Given the description of an element on the screen output the (x, y) to click on. 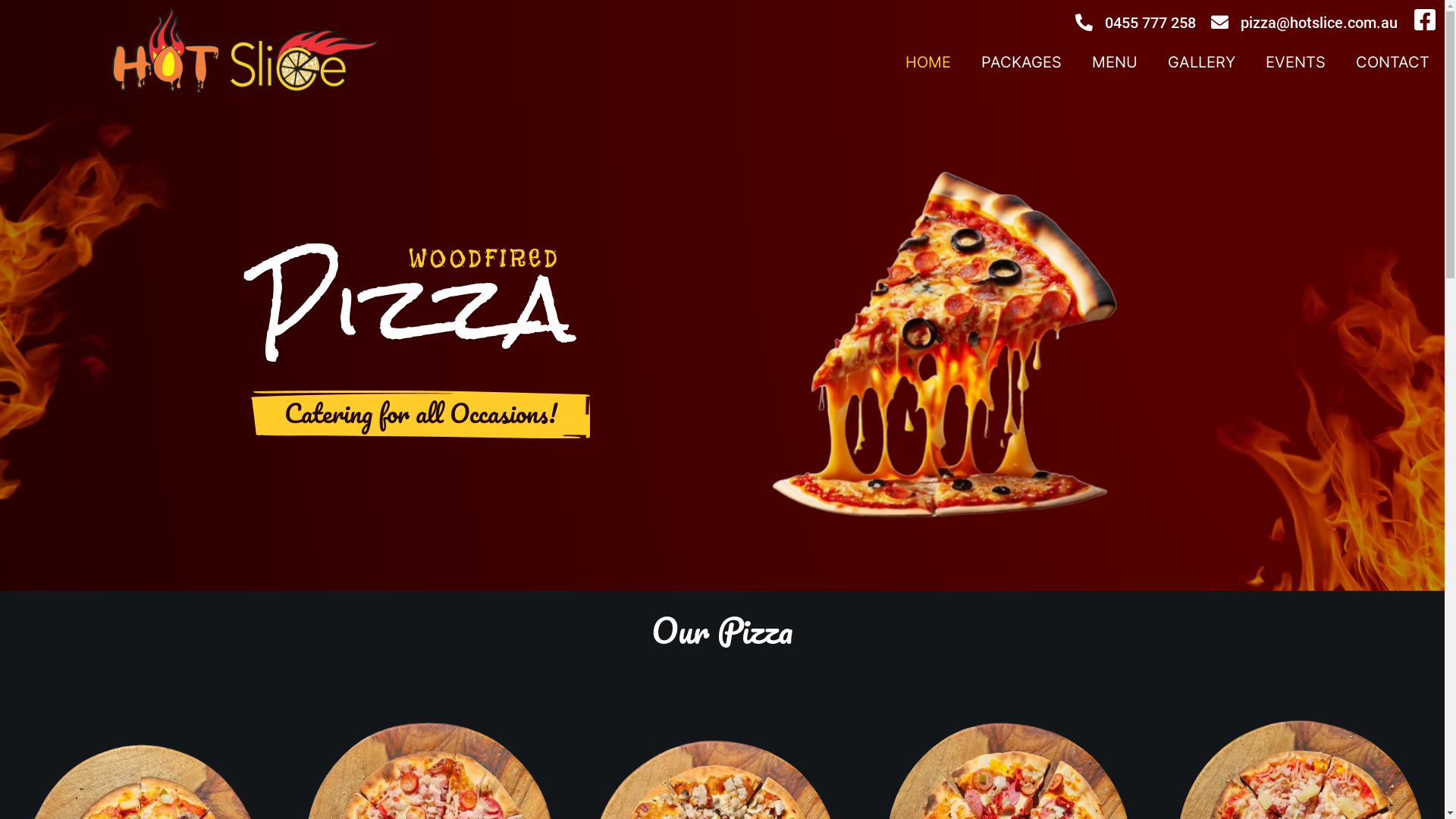
GALLERY Element type: text (1201, 61)
HOME Element type: text (928, 61)
PACKAGES Element type: text (1021, 61)
EVENTS Element type: text (1295, 61)
CONTACT Element type: text (1392, 61)
MENU Element type: text (1114, 61)
